Given the description of an element on the screen output the (x, y) to click on. 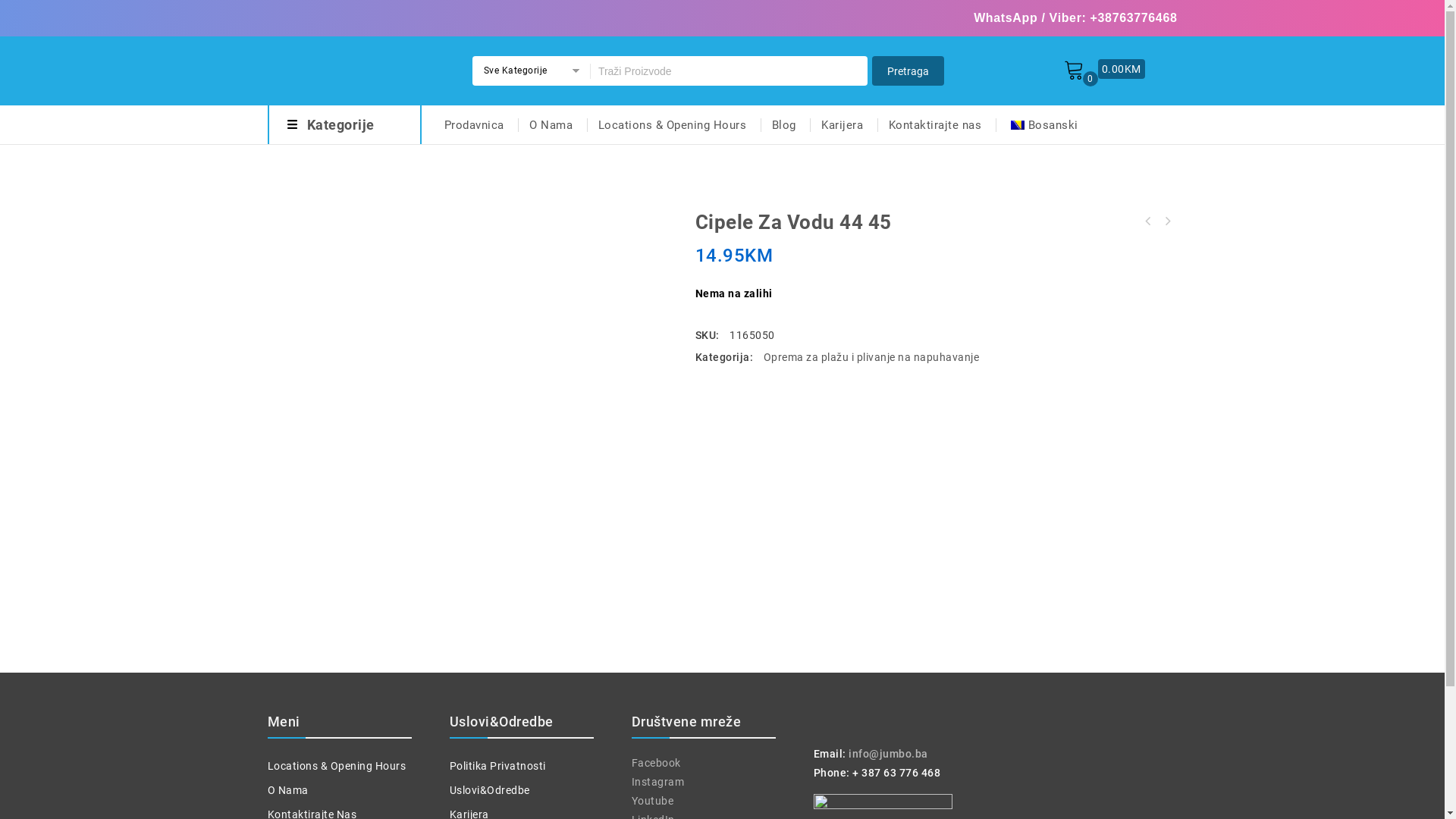
Instagram Element type: text (657, 781)
info@jumbo.ba Element type: text (888, 753)
Misici Za Plivanje Shimmer &Sh Element type: text (1166, 221)
O Nama Element type: text (286, 790)
Locations & Opening Hours Element type: text (672, 124)
Pretraga Element type: text (908, 70)
Facebook Element type: text (655, 762)
Karijera Element type: text (841, 124)
Politika Privatnosti Element type: text (496, 765)
Blog Element type: text (782, 124)
Bosanski Element type: hover (1016, 123)
Uslovi&Odredbe Element type: text (488, 790)
O Nama Element type: text (550, 124)
Cipele Za Vodu 36 37 Element type: text (1147, 221)
Kontaktirajte nas Element type: text (934, 124)
Bosanski Element type: text (1041, 124)
Prodavnica Element type: text (468, 124)
WhatsApp / Viber: +38763776468 Element type: text (1074, 17)
Locations & Opening Hours Element type: text (335, 765)
0.00KM Element type: text (1121, 68)
Youtube Element type: text (651, 800)
Pretraga Element type: hover (728, 70)
